Given the description of an element on the screen output the (x, y) to click on. 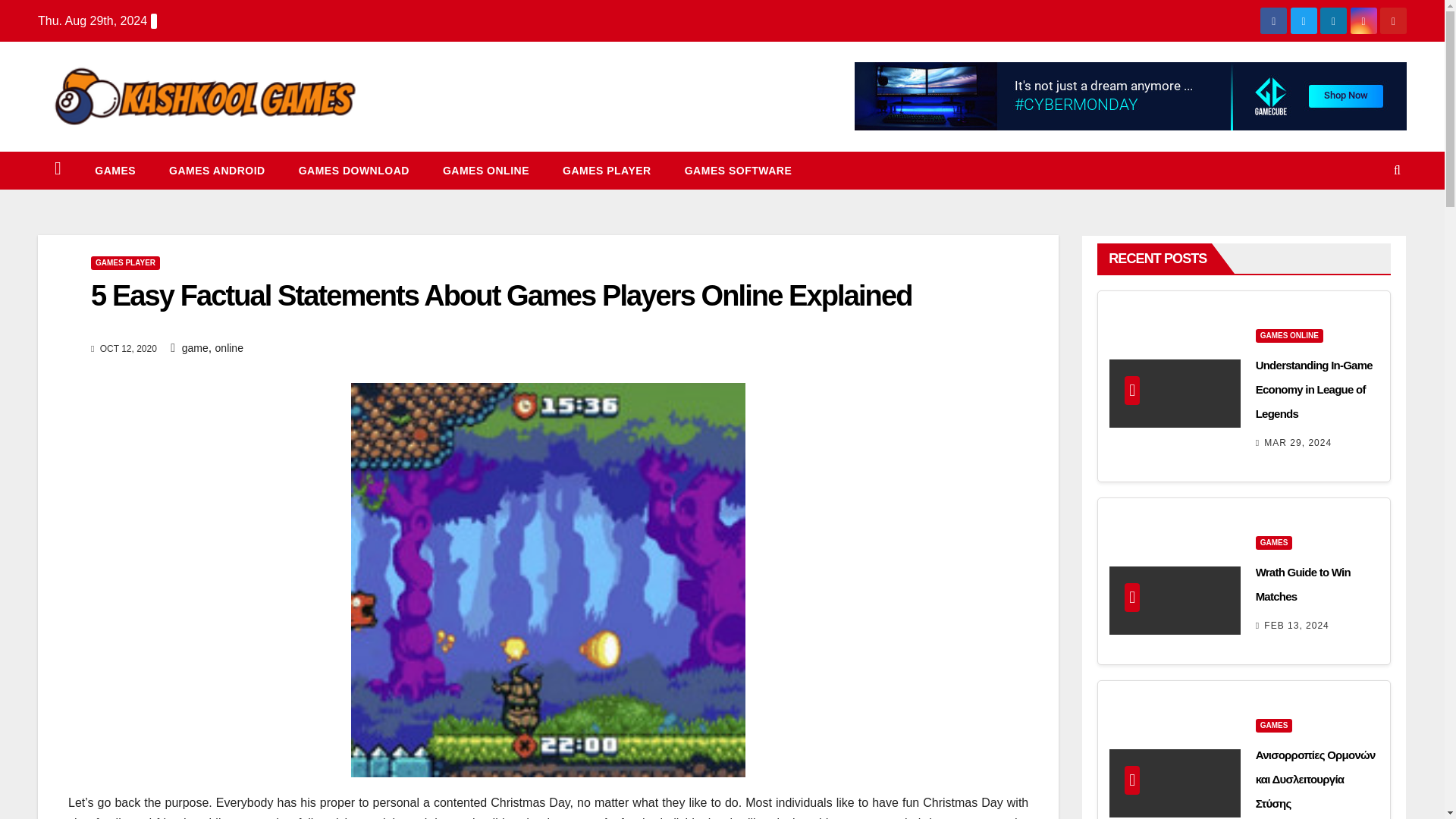
Games Player (607, 170)
GAMES (115, 170)
GAMES ONLINE (1289, 336)
GAMES PLAYER (607, 170)
game (195, 347)
GAMES ANDROID (217, 170)
Games Android (217, 170)
